Given the description of an element on the screen output the (x, y) to click on. 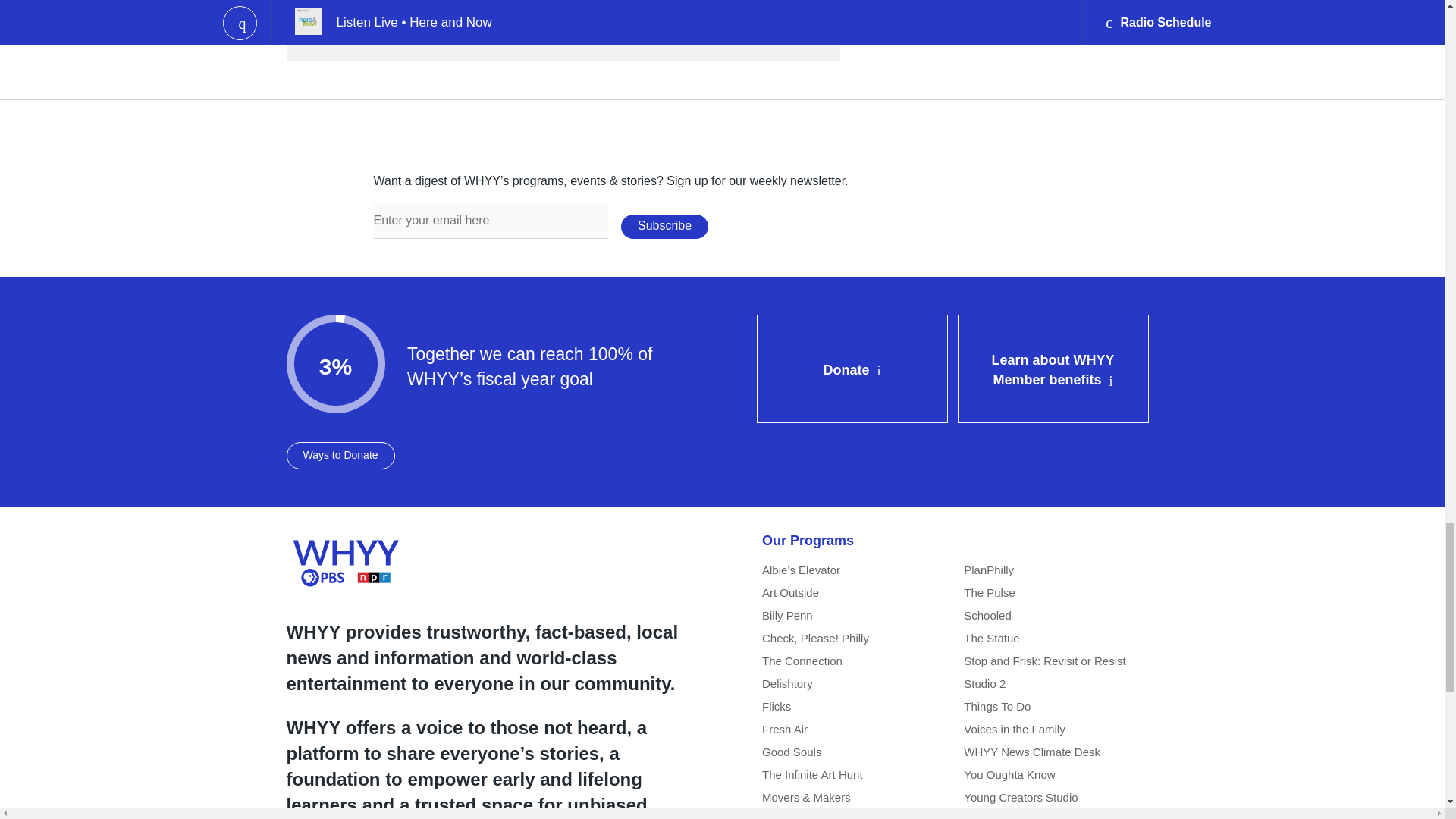
Subscribe (664, 226)
